Given the description of an element on the screen output the (x, y) to click on. 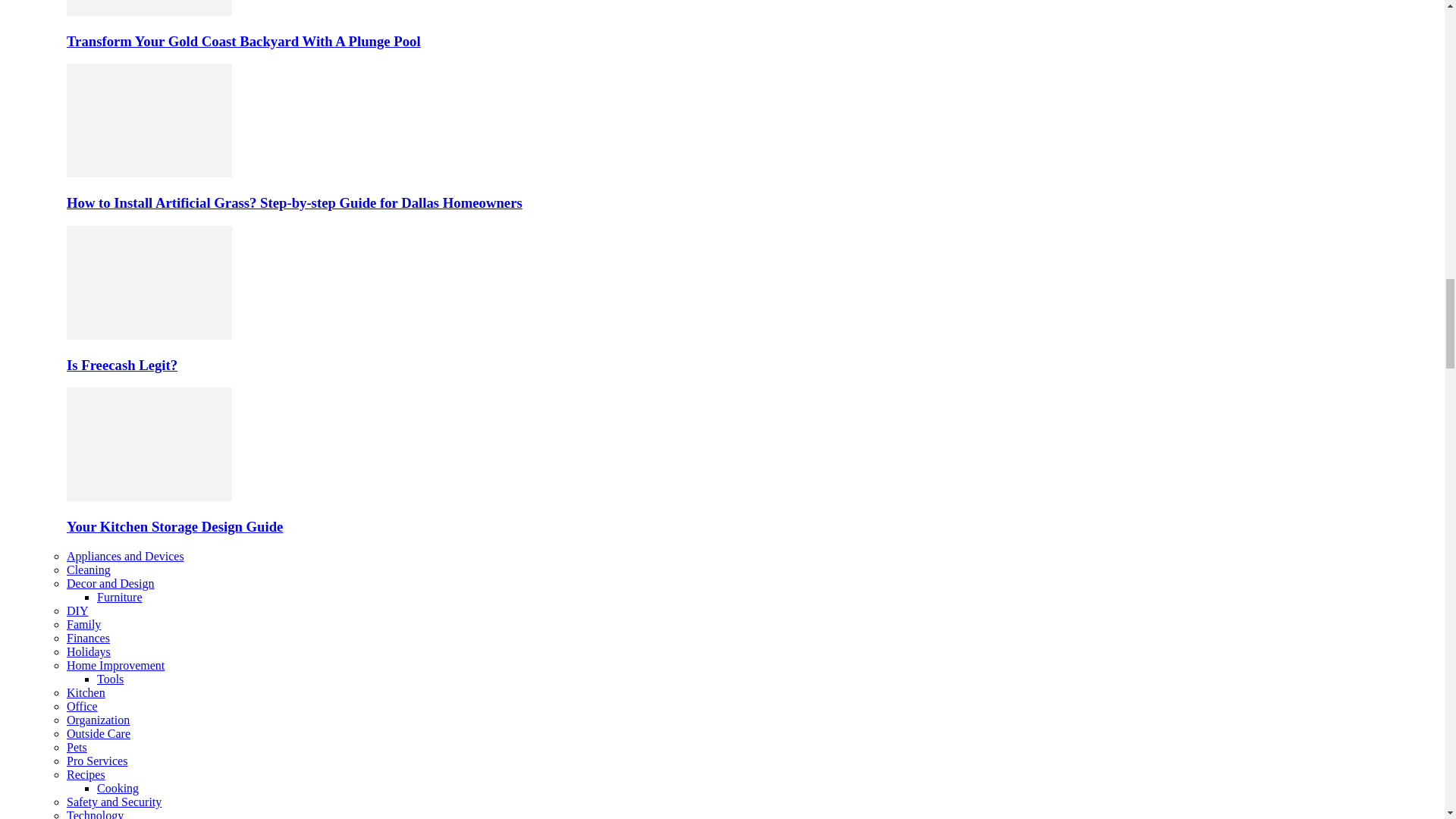
Transform Your Gold Coast Backyard With A Plunge Pool (148, 7)
Is Freecash Legit? (121, 365)
Is Freecash Legit? (148, 335)
Your Kitchen Storage Design Guide (148, 444)
Your Kitchen Storage Design Guide (148, 496)
Transform Your Gold Coast Backyard With A Plunge Pool (148, 11)
Is Freecash Legit? (148, 282)
Your Kitchen Storage Design Guide (174, 526)
